Given the description of an element on the screen output the (x, y) to click on. 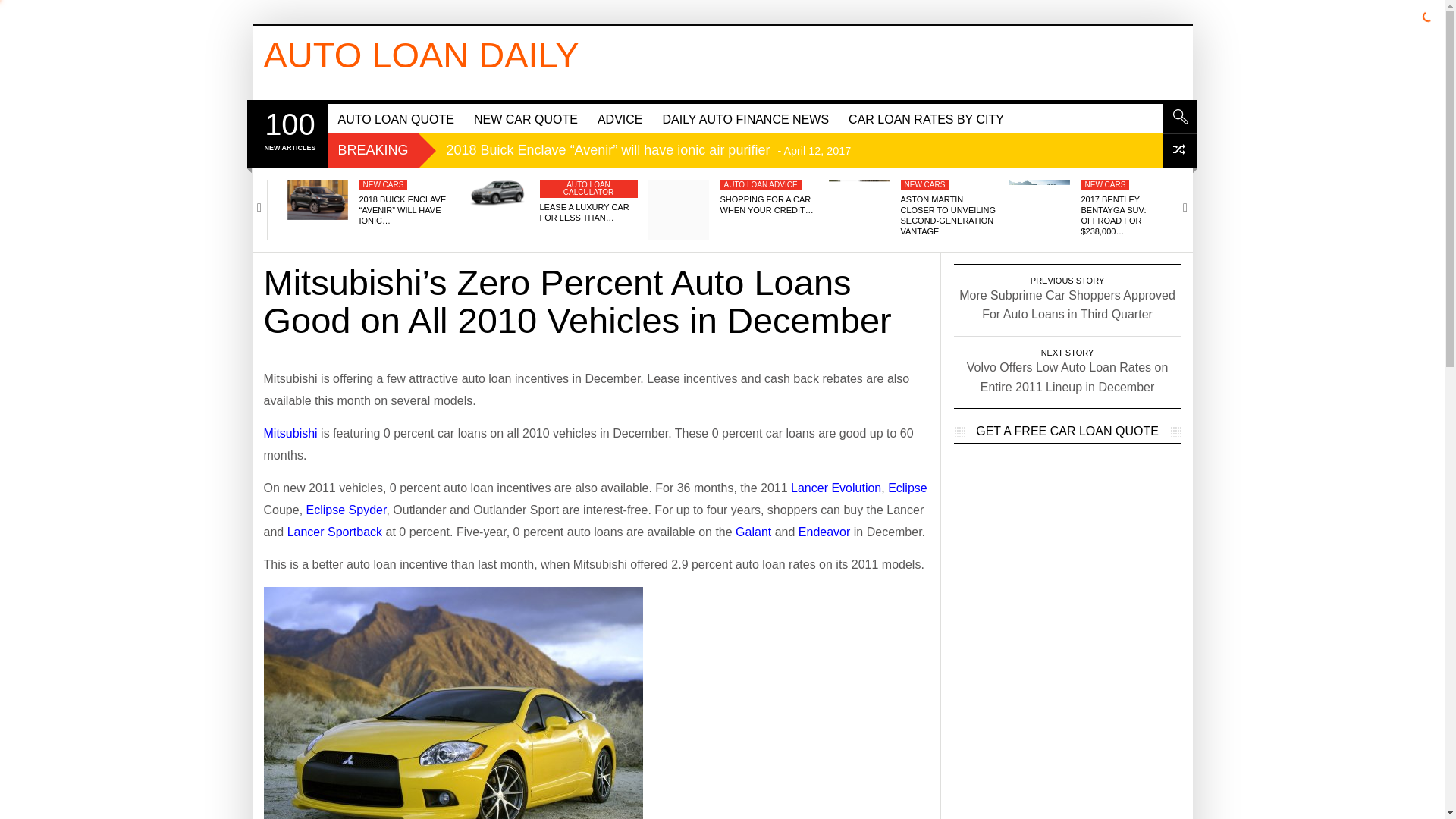
Auto Loan Daily (421, 54)
Search (1179, 116)
NEW CAR QUOTE (526, 118)
Random (1179, 151)
Advertisement (762, 59)
AUTO LOAN QUOTE (395, 118)
AUTO LOAN DAILY (421, 54)
ADVICE (620, 118)
